Given the description of an element on the screen output the (x, y) to click on. 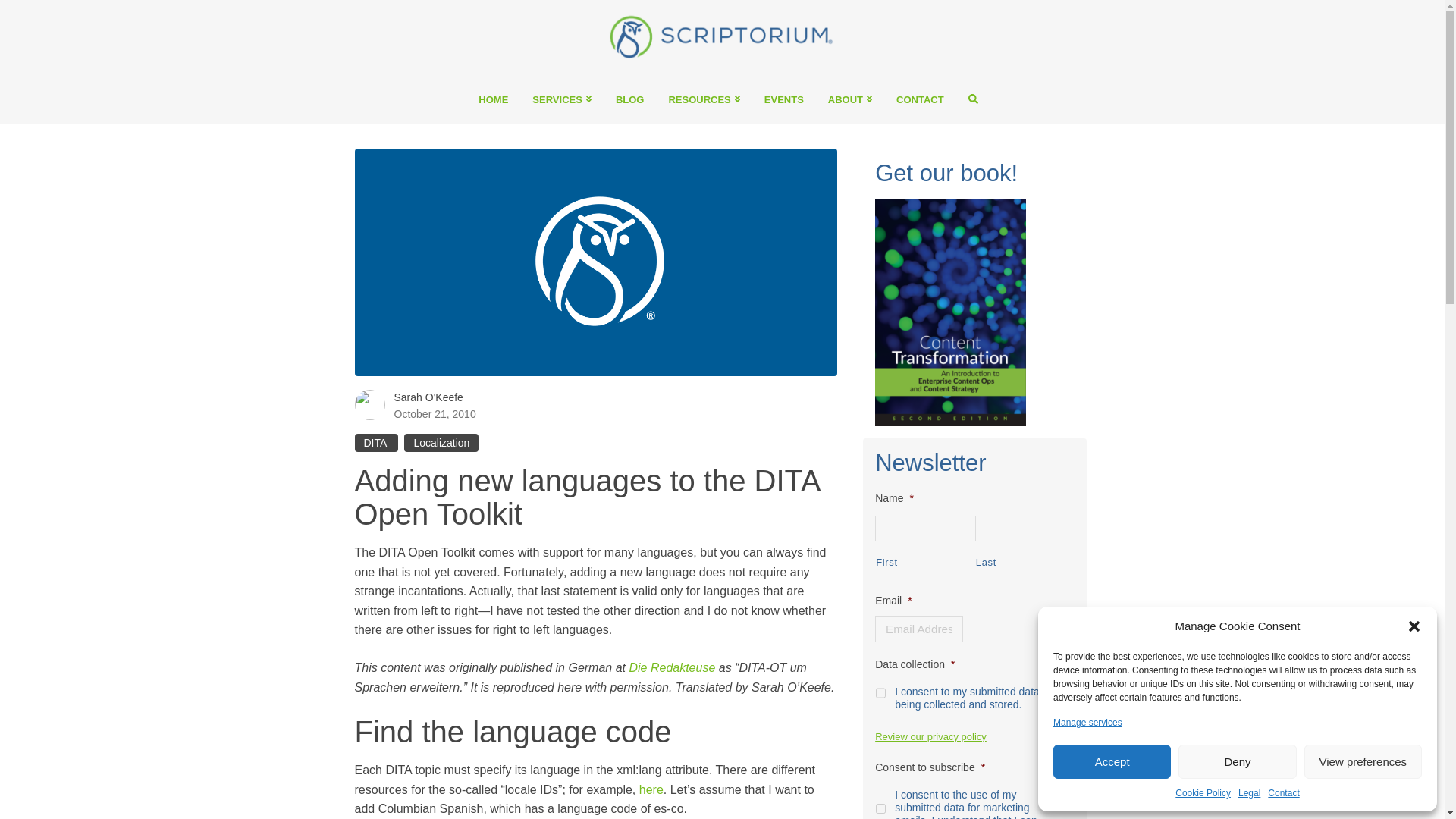
Manage services (1087, 722)
Contact (1283, 793)
Legal (1249, 793)
View preferences (1363, 761)
Accept (1111, 761)
Deny (1236, 761)
Cookie Policy (1202, 793)
